Given the description of an element on the screen output the (x, y) to click on. 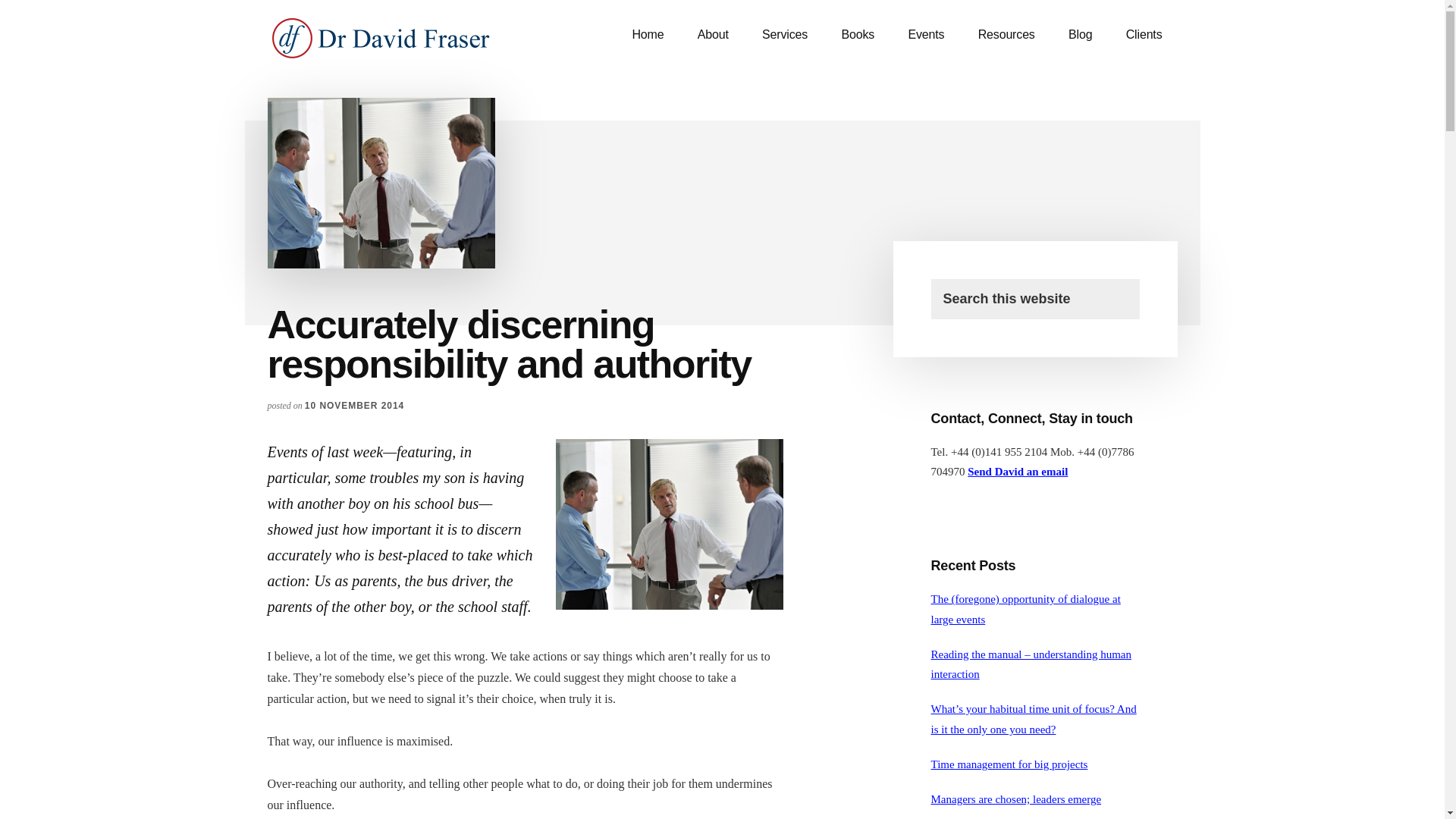
Clients (1143, 34)
Books (857, 34)
Services (784, 34)
Blog (1079, 34)
Events (925, 34)
Resources (1005, 34)
Home (646, 34)
About (713, 34)
